Given the description of an element on the screen output the (x, y) to click on. 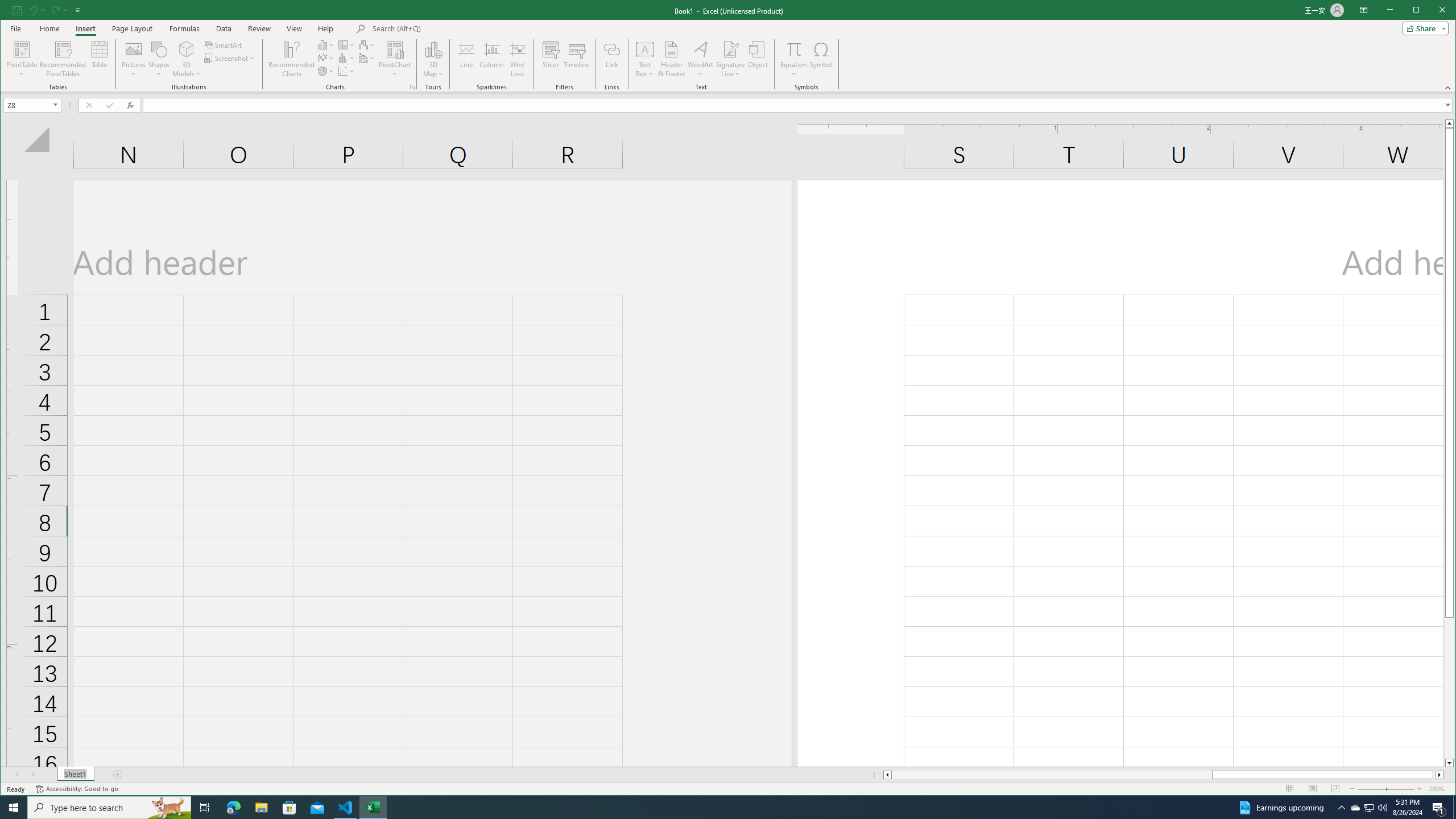
Insert Column or Bar Chart (325, 44)
Page left (1051, 774)
3D Models (186, 59)
Header & Footer... (670, 59)
Recommended PivotTables (1368, 807)
3D Map (63, 59)
Pictures (432, 59)
Sheet Tab (133, 59)
